Given the description of an element on the screen output the (x, y) to click on. 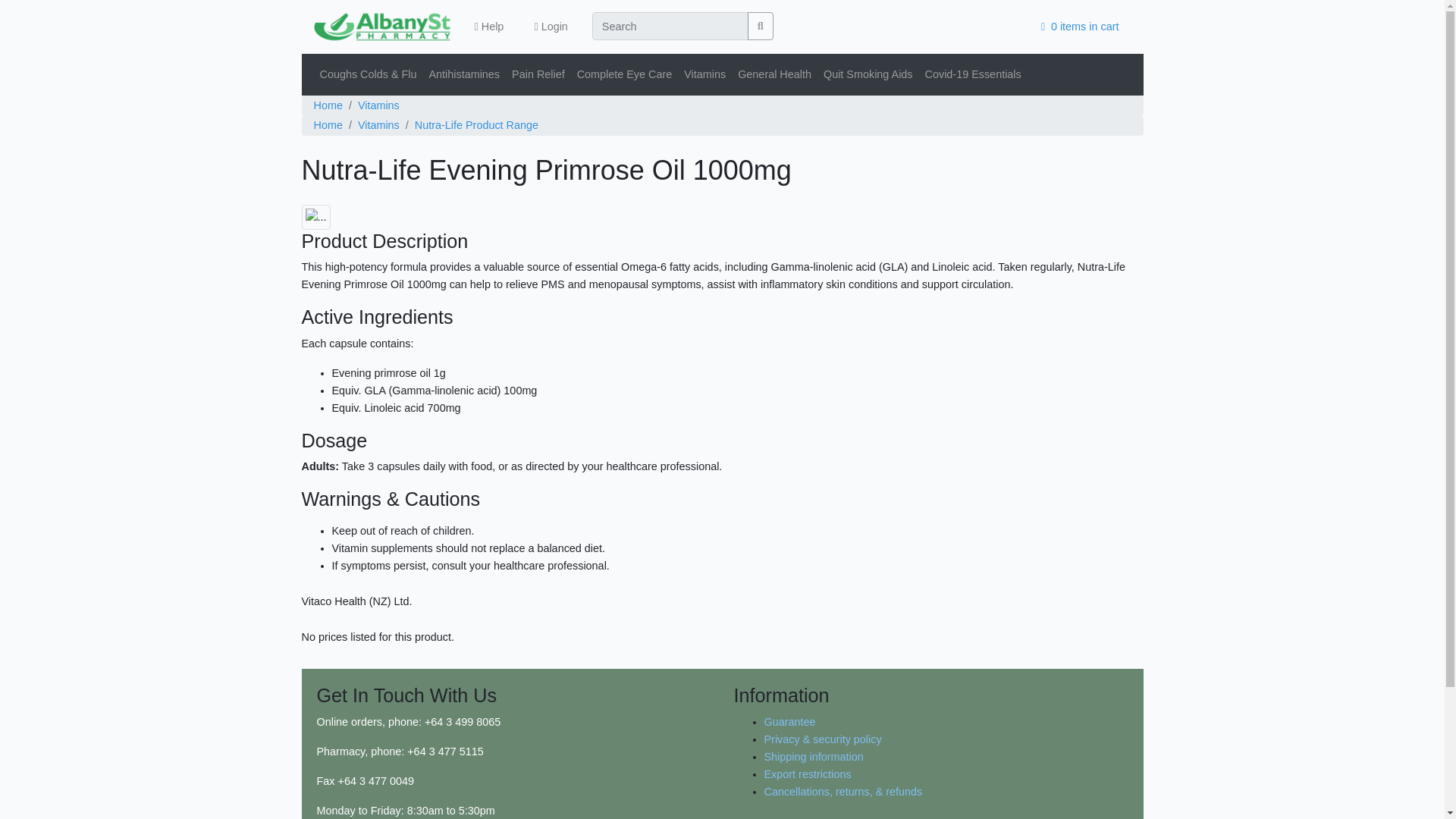
Antihistamines (463, 74)
Vitamins (378, 105)
Quit Smoking Aids (867, 74)
Shipping information (813, 756)
Export restrictions (807, 774)
Login (550, 26)
Home (328, 105)
0 items in cart (1080, 26)
Pain Relief (537, 74)
General Health (774, 74)
Guarantee (789, 721)
Help (489, 26)
Covid-19 Essentials (972, 74)
Vitamins (705, 74)
Nutra-Life Product Range (476, 125)
